Given the description of an element on the screen output the (x, y) to click on. 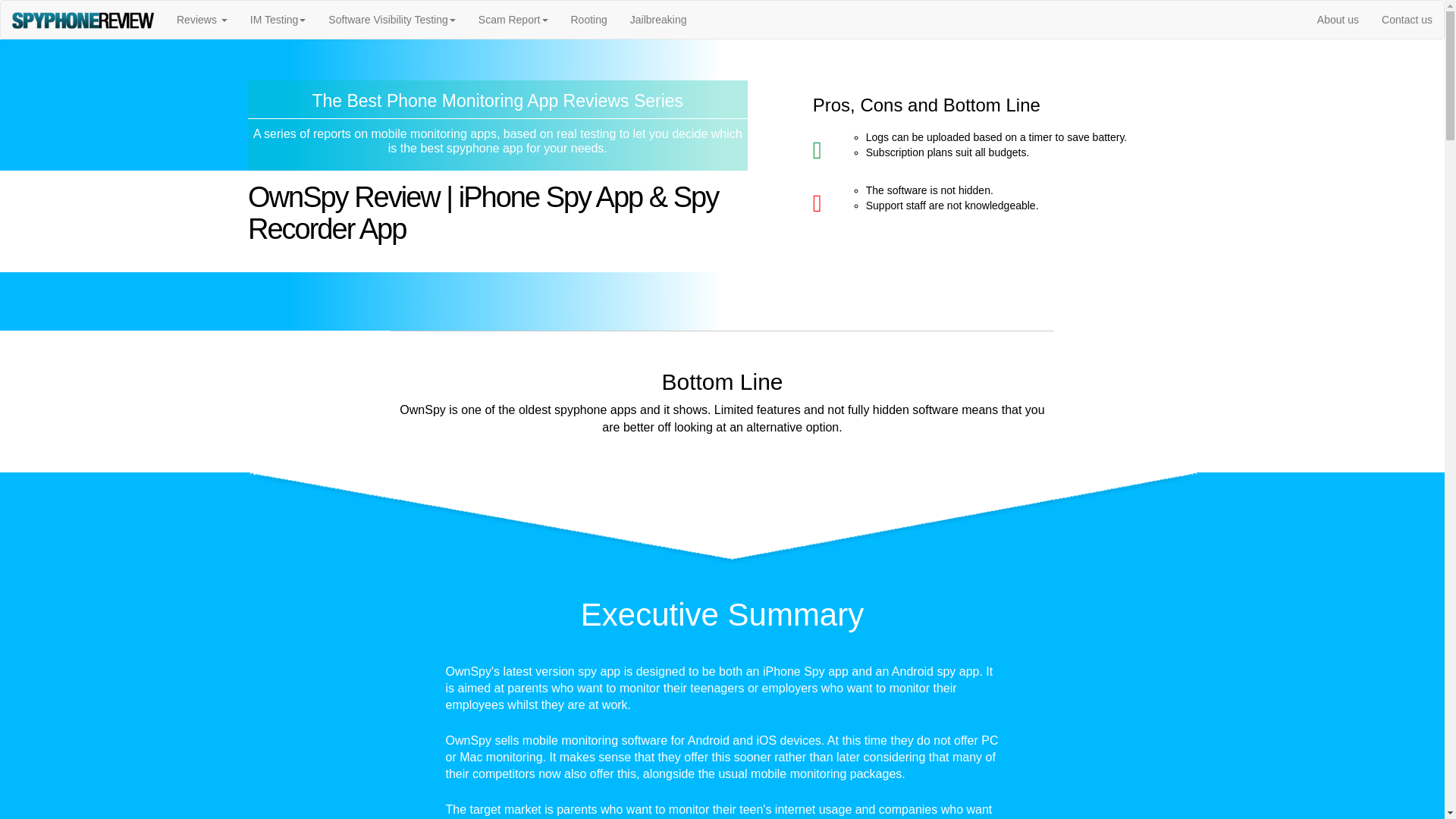
IM Testing (277, 19)
Reviews (201, 19)
